Given the description of an element on the screen output the (x, y) to click on. 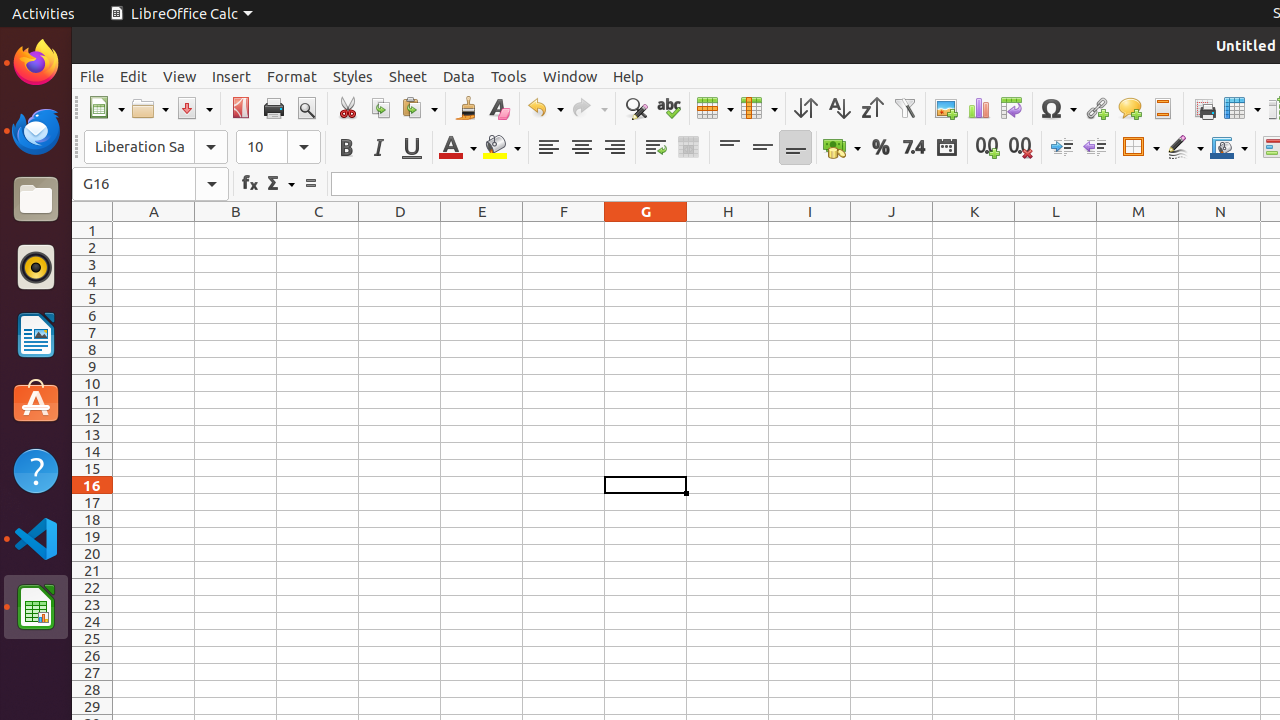
Background Color Element type: push-button (502, 147)
Comment Element type: push-button (1129, 108)
PDF Element type: push-button (240, 108)
Headers and Footers Element type: push-button (1162, 108)
Thunderbird Mail Element type: push-button (36, 131)
